Given the description of an element on the screen output the (x, y) to click on. 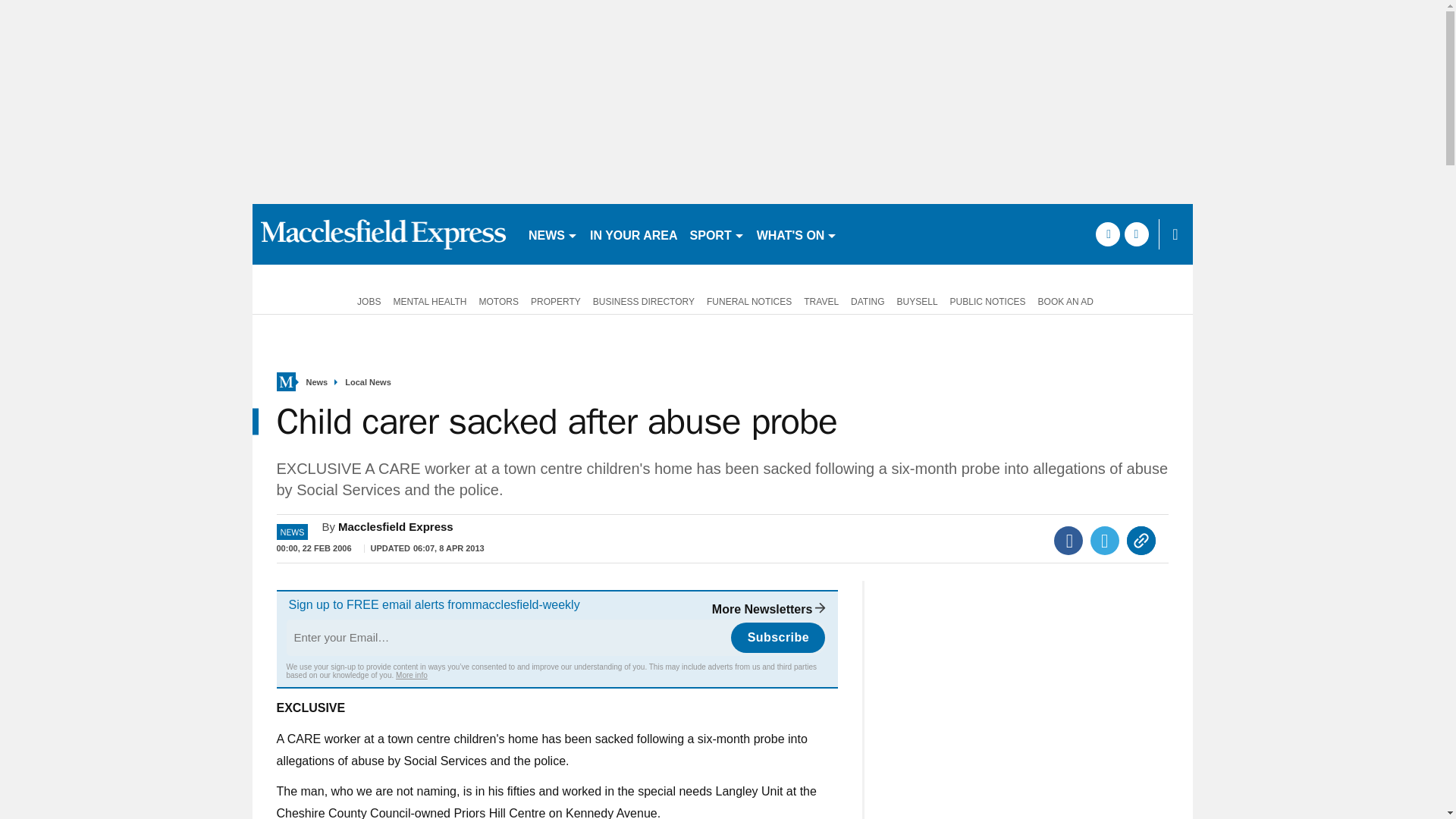
PROPERTY (555, 300)
Facebook (1068, 540)
SPORT (717, 233)
MOTORS (498, 300)
WHAT'S ON (797, 233)
JOBS (366, 300)
MENTAL HEALTH (429, 300)
Twitter (1104, 540)
DATING (866, 300)
PUBLIC NOTICES (987, 300)
